Given the description of an element on the screen output the (x, y) to click on. 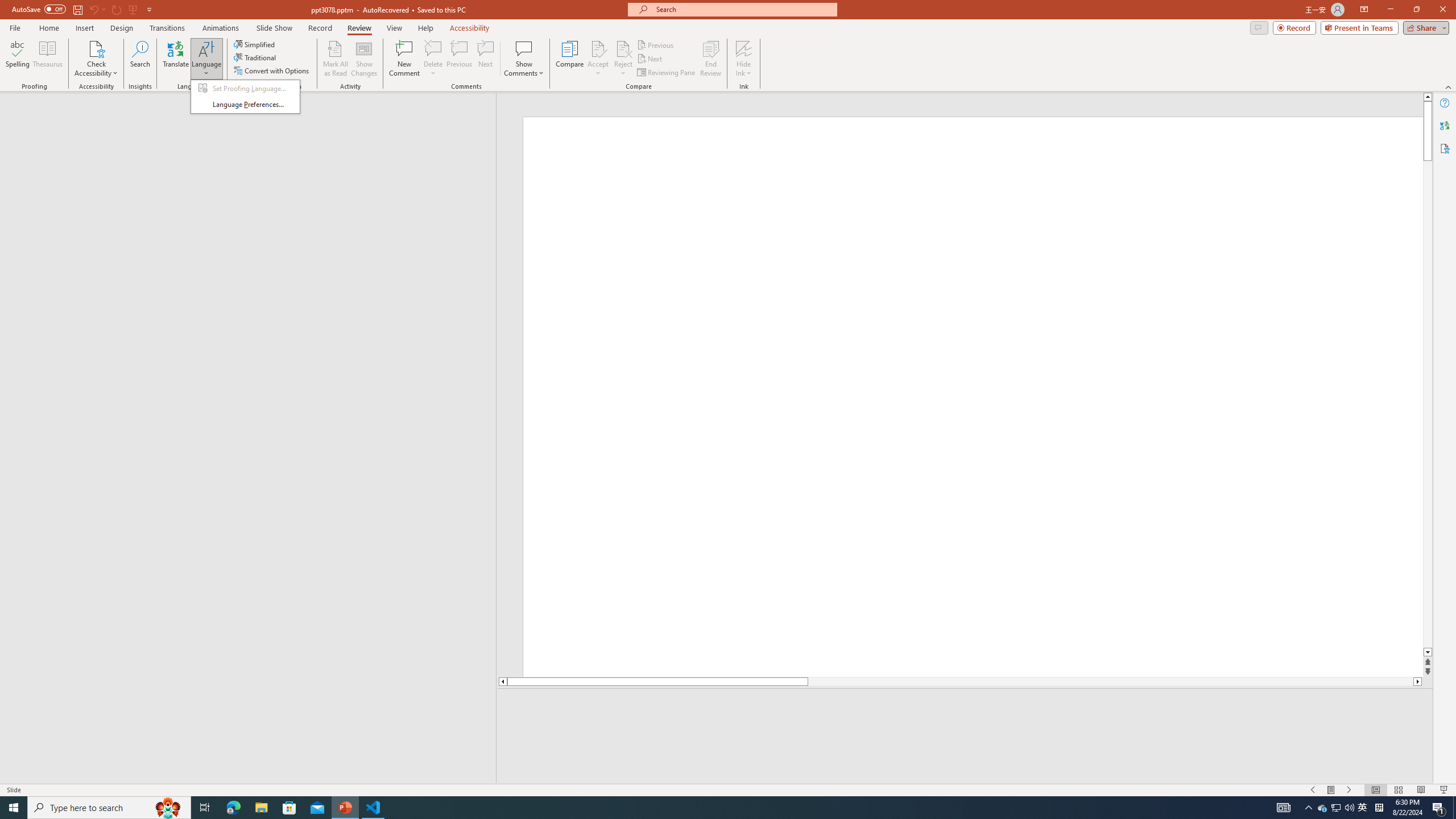
Show Changes (363, 58)
&Language (244, 96)
Language (206, 58)
Convert with Options... (272, 69)
